Given the description of an element on the screen output the (x, y) to click on. 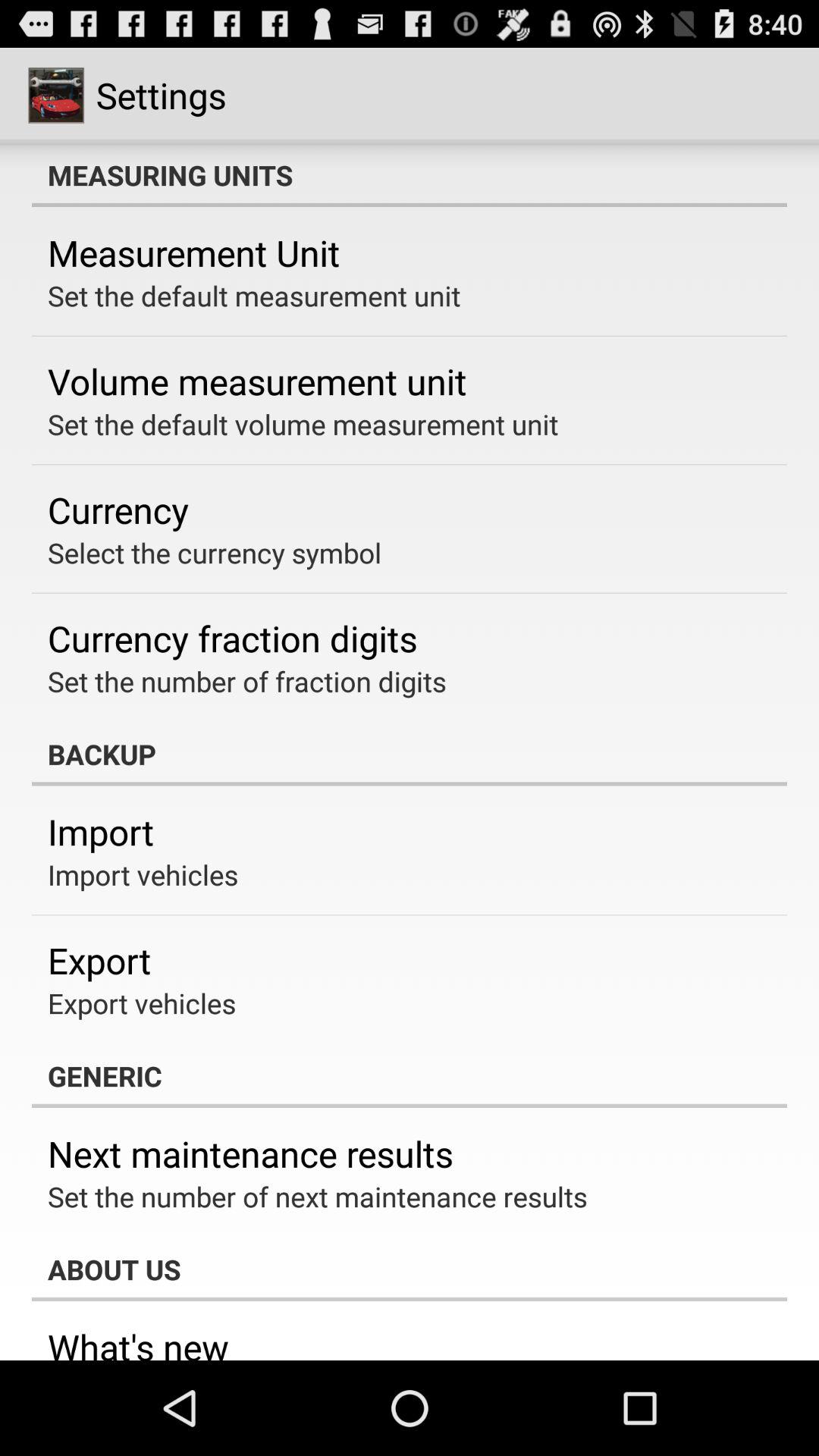
choose the app above generic app (141, 1003)
